Given the description of an element on the screen output the (x, y) to click on. 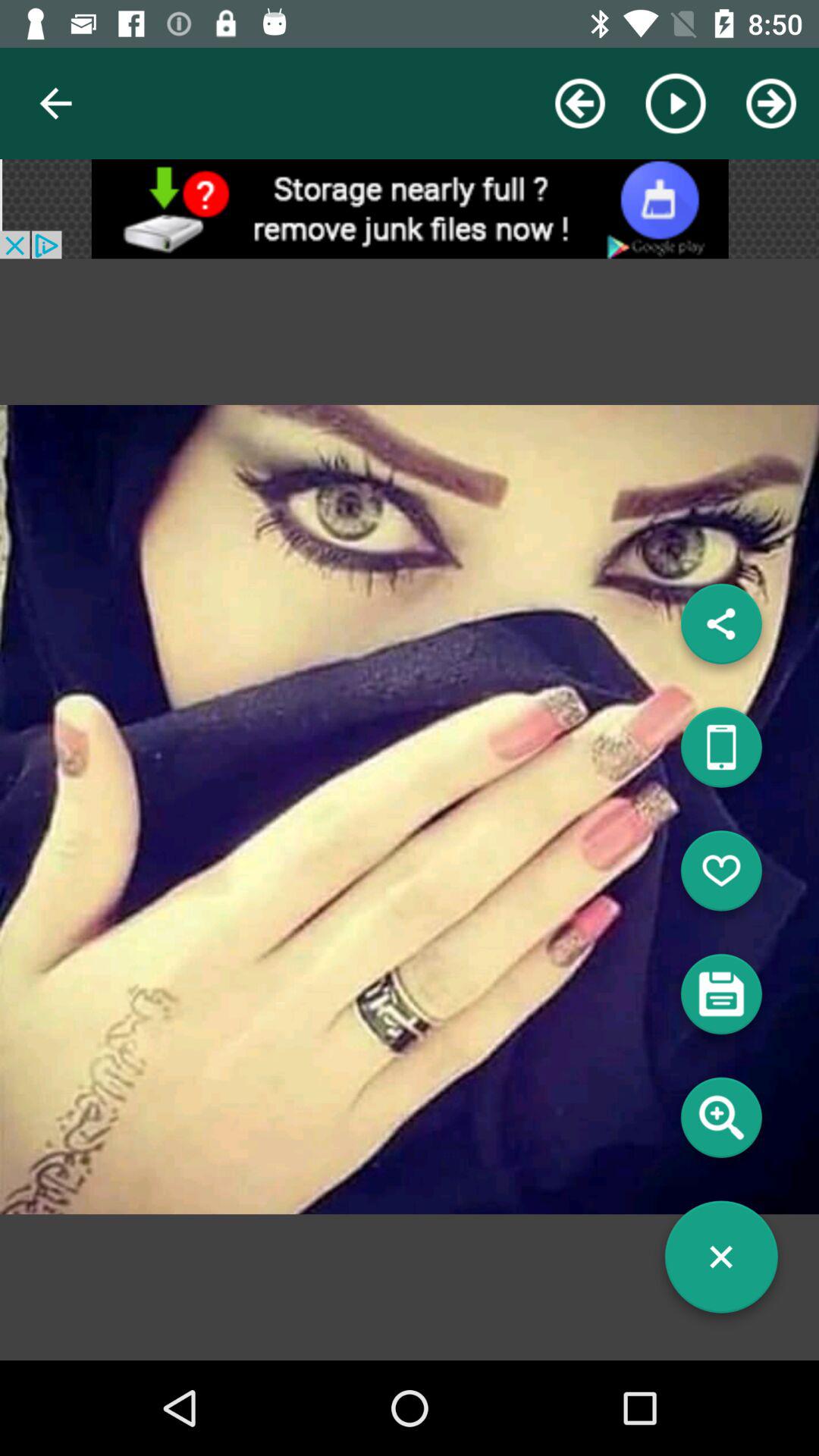
close button (721, 1262)
